Given the description of an element on the screen output the (x, y) to click on. 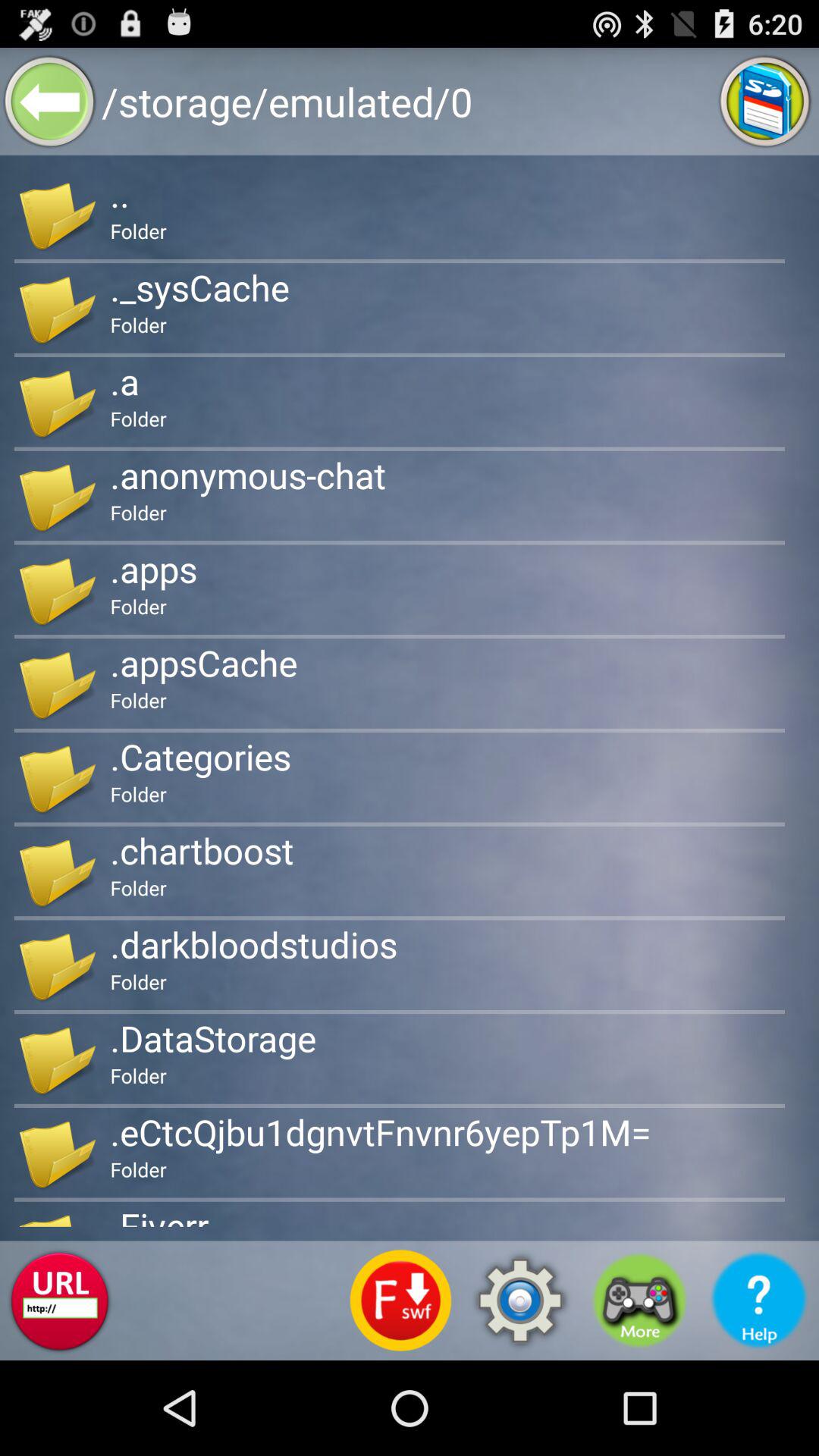
choose .anonymous-chat app (248, 475)
